Given the description of an element on the screen output the (x, y) to click on. 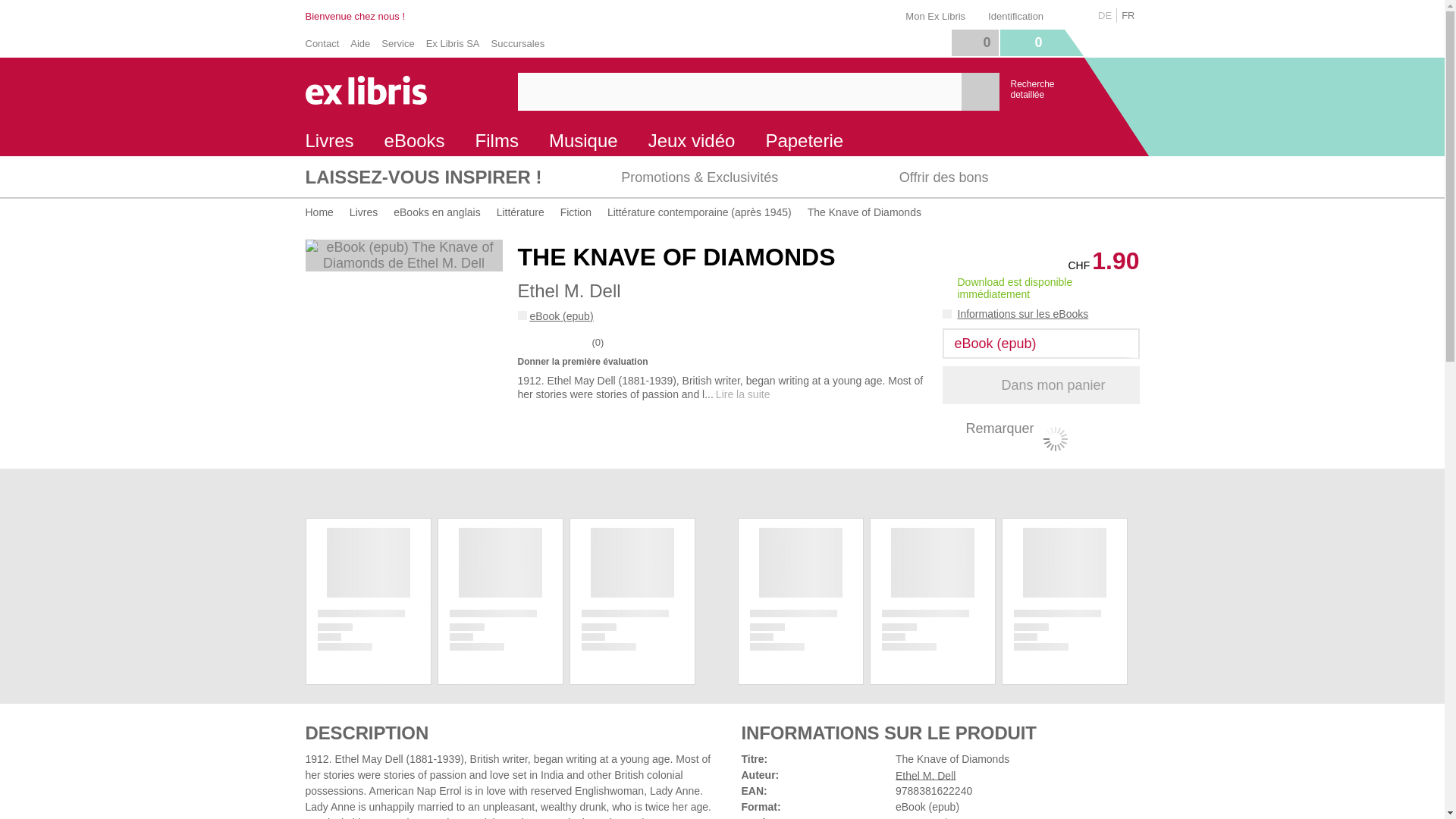
The Knave of Diamonds (864, 212)
Mon Ex Libris (930, 13)
Service (403, 44)
Succursales (532, 41)
Contact (327, 44)
Musique (583, 141)
Liste de souhaits (974, 42)
eBooks (414, 141)
Offrir des bons (1000, 177)
Fiction (575, 212)
